Given the description of an element on the screen output the (x, y) to click on. 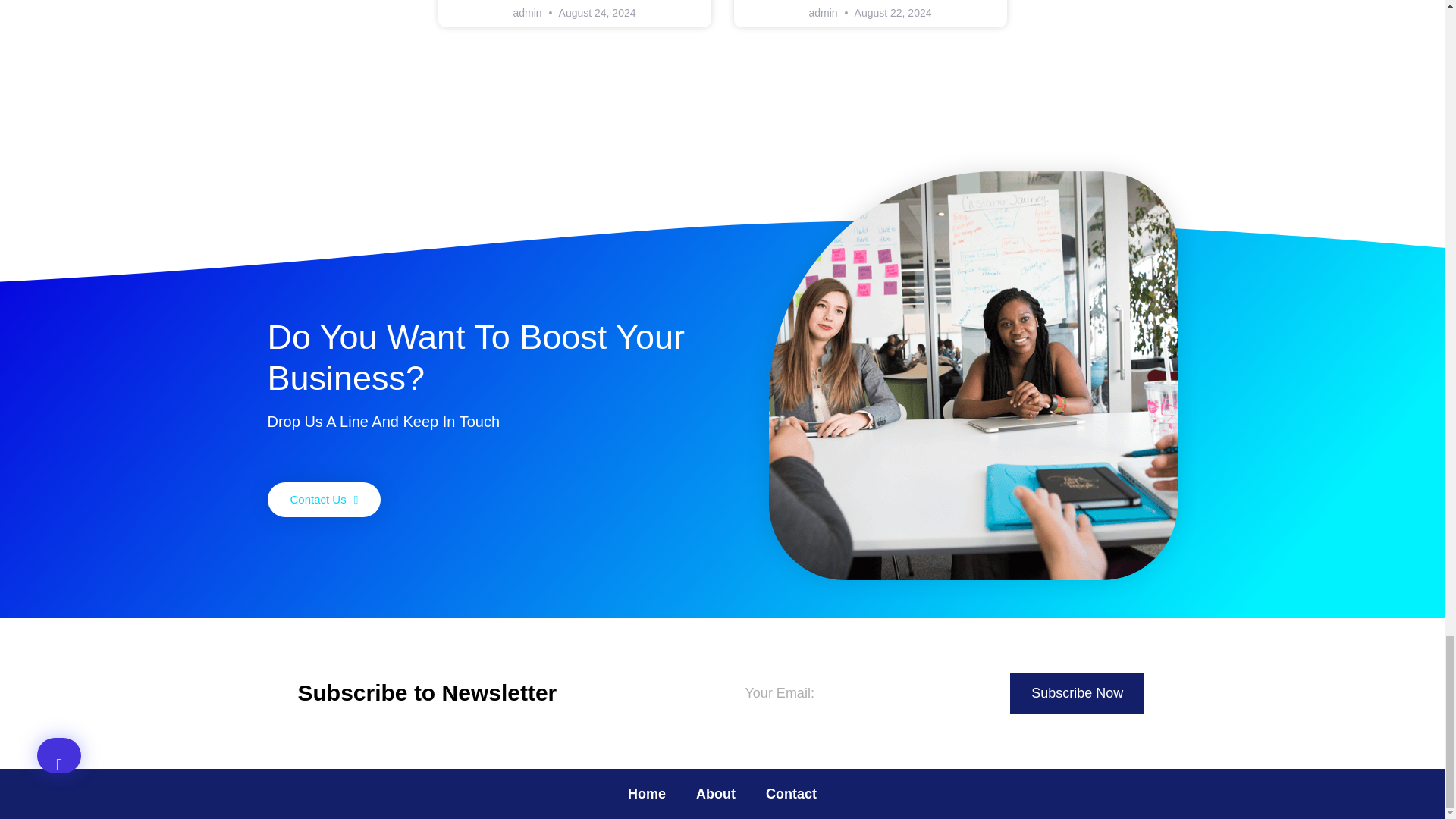
Contact Us (323, 499)
About (716, 793)
Contact (791, 793)
Subscribe Now (1077, 692)
Home (646, 793)
